Given the description of an element on the screen output the (x, y) to click on. 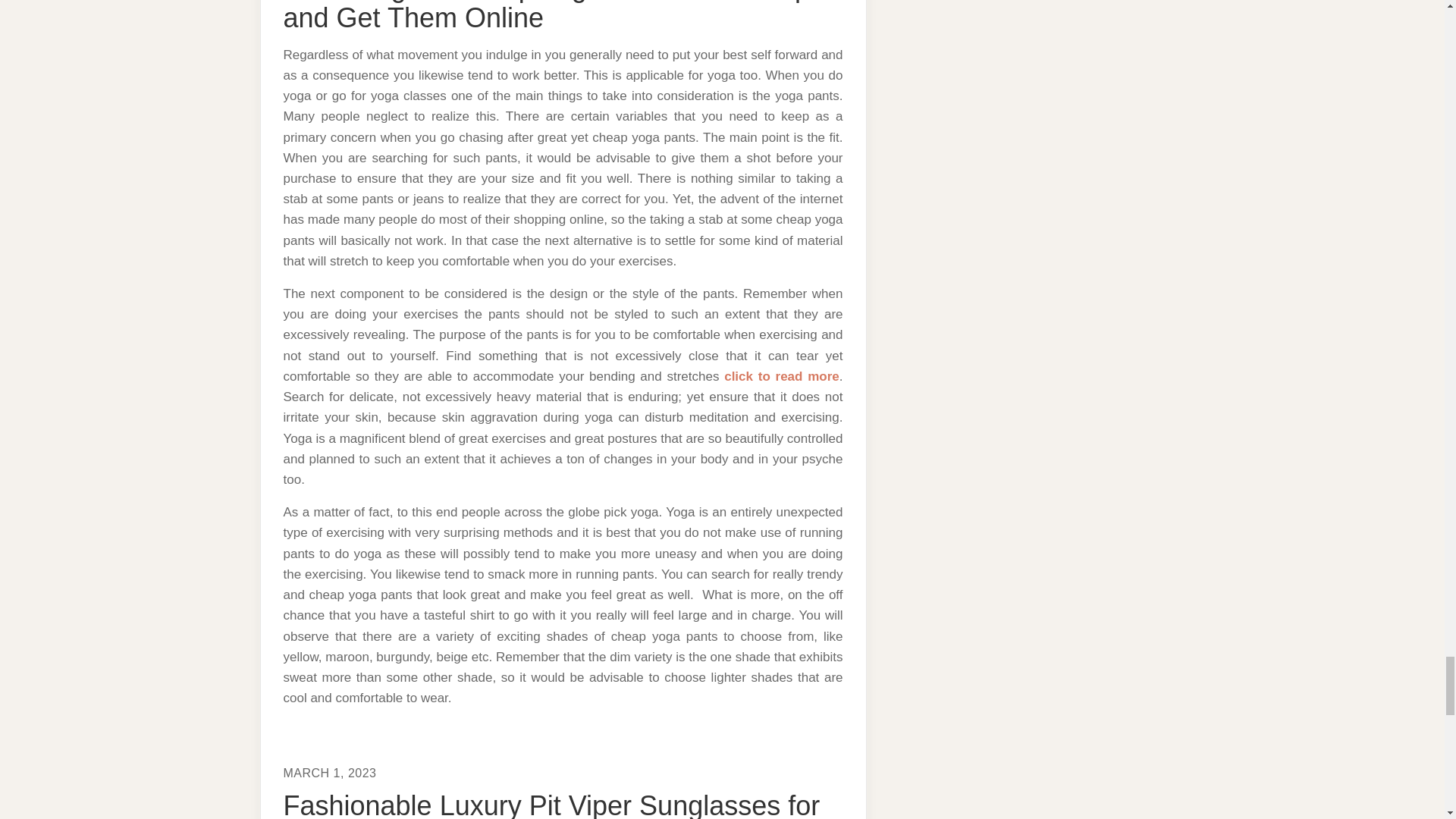
Fashionable Luxury Pit Viper Sunglasses for Anybody (552, 804)
click to read more (781, 376)
MARCH 1, 2023 (330, 772)
